Given the description of an element on the screen output the (x, y) to click on. 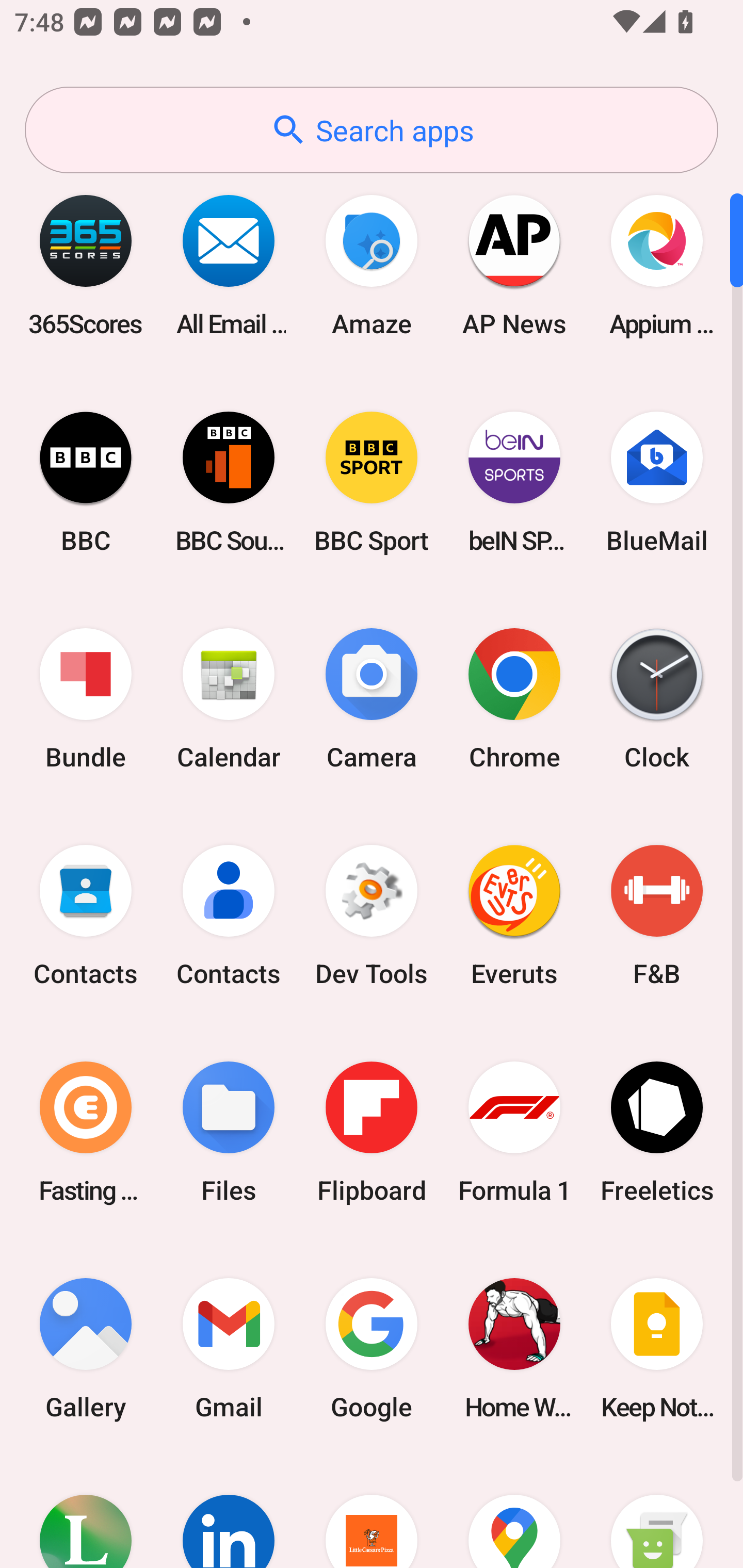
  Search apps (371, 130)
365Scores (85, 264)
All Email Connect (228, 264)
Amaze (371, 264)
AP News (514, 264)
Appium Settings (656, 264)
BBC (85, 482)
BBC Sounds (228, 482)
BBC Sport (371, 482)
beIN SPORTS (514, 482)
BlueMail (656, 482)
Bundle (85, 699)
Calendar (228, 699)
Camera (371, 699)
Chrome (514, 699)
Clock (656, 699)
Contacts (85, 915)
Contacts (228, 915)
Dev Tools (371, 915)
Everuts (514, 915)
F&B (656, 915)
Fasting Coach (85, 1131)
Files (228, 1131)
Flipboard (371, 1131)
Formula 1 (514, 1131)
Freeletics (656, 1131)
Gallery (85, 1348)
Gmail (228, 1348)
Google (371, 1348)
Home Workout (514, 1348)
Keep Notes (656, 1348)
Lifesum (85, 1512)
LinkedIn (228, 1512)
Little Caesars Pizza (371, 1512)
Maps (514, 1512)
Messaging (656, 1512)
